Given the description of an element on the screen output the (x, y) to click on. 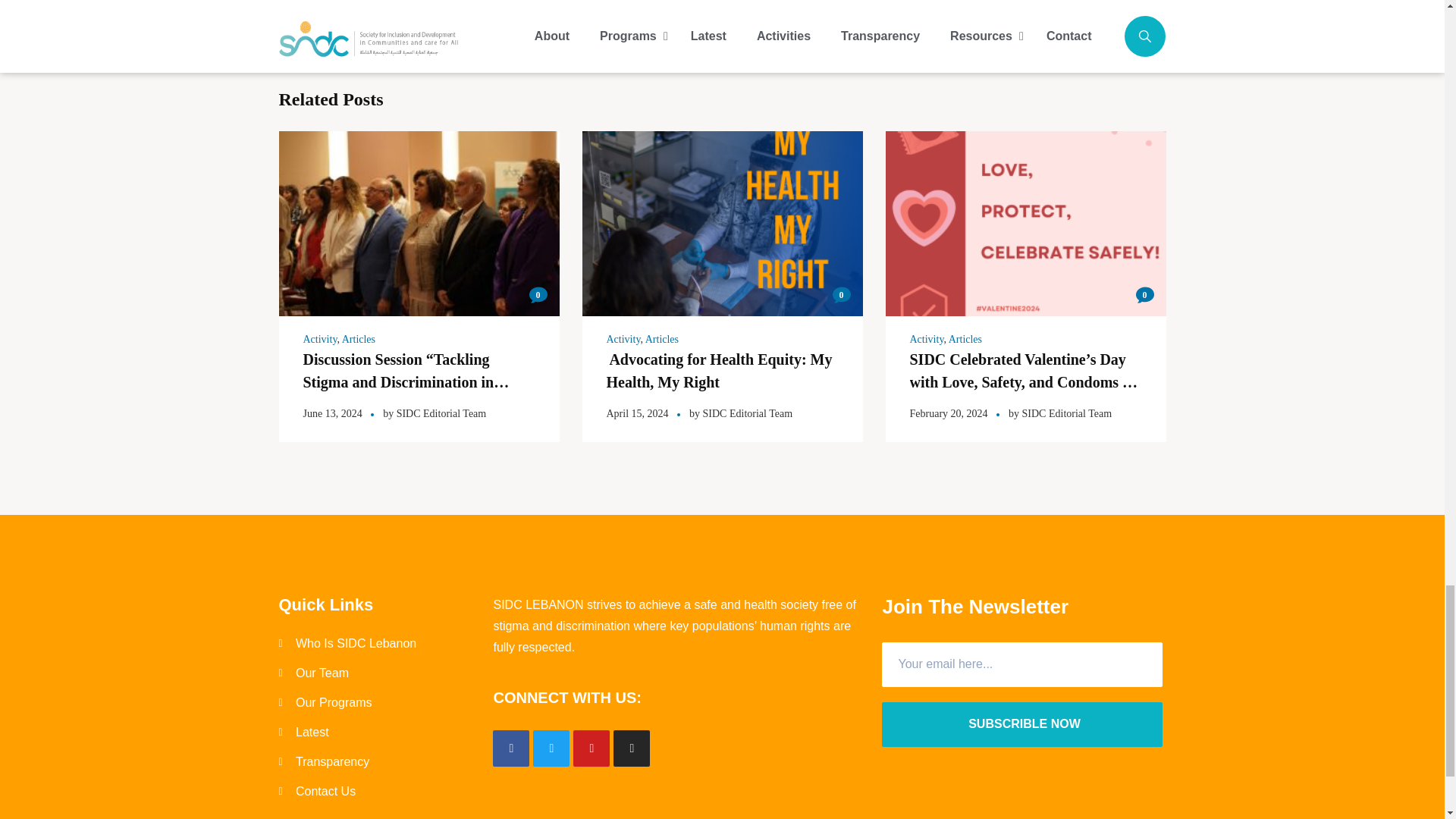
Post Comment (477, 6)
